Given the description of an element on the screen output the (x, y) to click on. 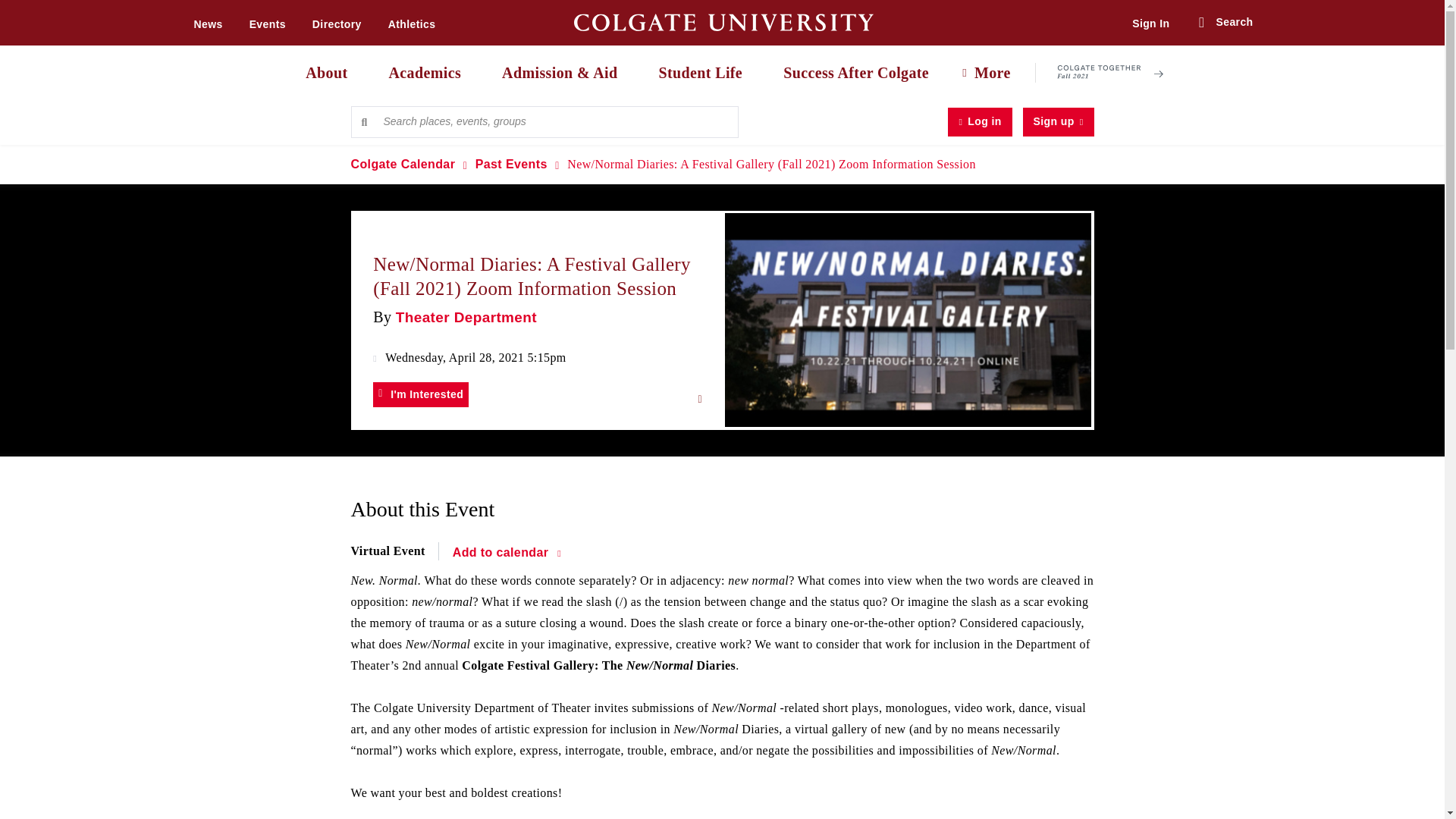
Events (266, 24)
About (322, 72)
Athletics (411, 24)
News (207, 24)
Sign In (1150, 23)
Directory (337, 24)
Search (1225, 22)
Academics (420, 72)
